Given the description of an element on the screen output the (x, y) to click on. 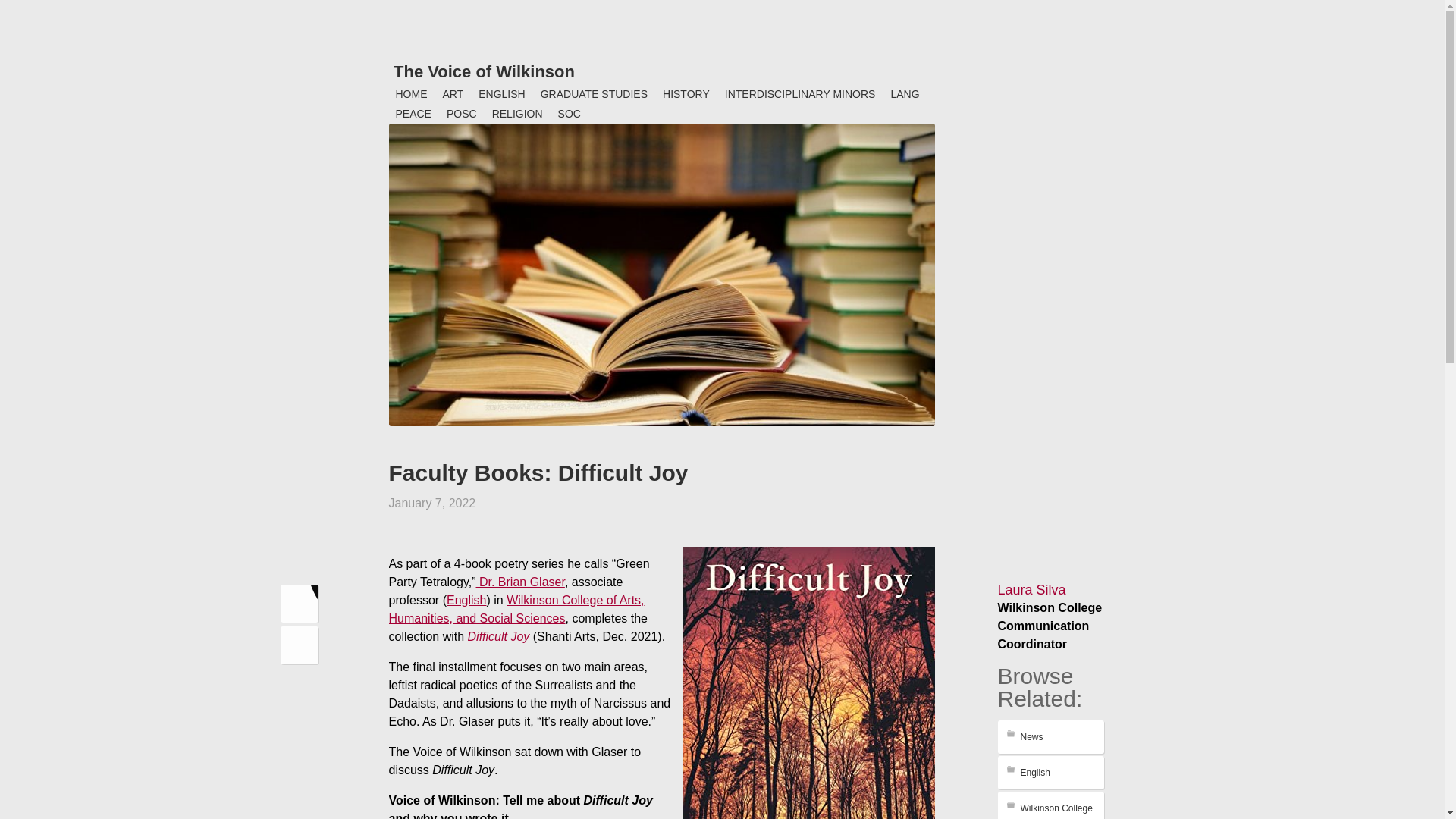
English (1050, 772)
HISTORY (686, 94)
LANG (904, 94)
PEACE (413, 113)
Dr. Brian Glaser (520, 581)
ENGLISH (501, 94)
RELIGION (517, 113)
Difficult Joy (498, 635)
Laura Silva (1031, 589)
English (466, 599)
HOME (411, 94)
INTERDISCIPLINARY MINORS (800, 94)
ART (453, 94)
Wilkinson College of Arts, Humanities, and Social Sciences (515, 608)
News (1050, 736)
